Given the description of an element on the screen output the (x, y) to click on. 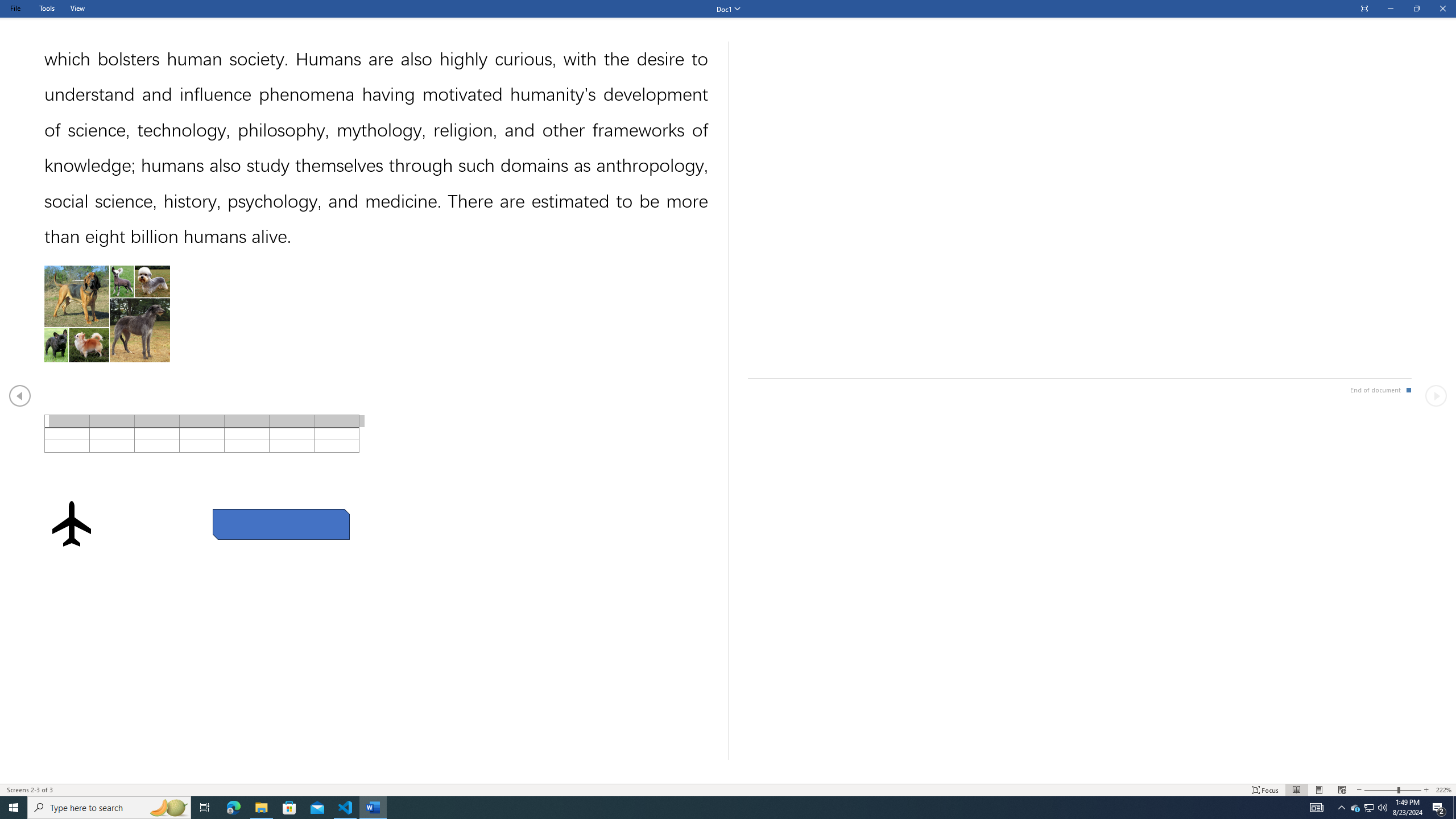
Class: MsoCommandBar (728, 789)
Decrease Text Size (1359, 790)
Focus  (1265, 790)
Minimize (1390, 9)
Print Layout (1318, 790)
Auto-hide Reading Toolbar (1364, 9)
Zoom In (1410, 790)
Zoom Out (1380, 790)
Increase Text Size (1426, 790)
Class: NetUIScrollBar (728, 778)
Tools (46, 8)
Read Mode (1296, 790)
